Given the description of an element on the screen output the (x, y) to click on. 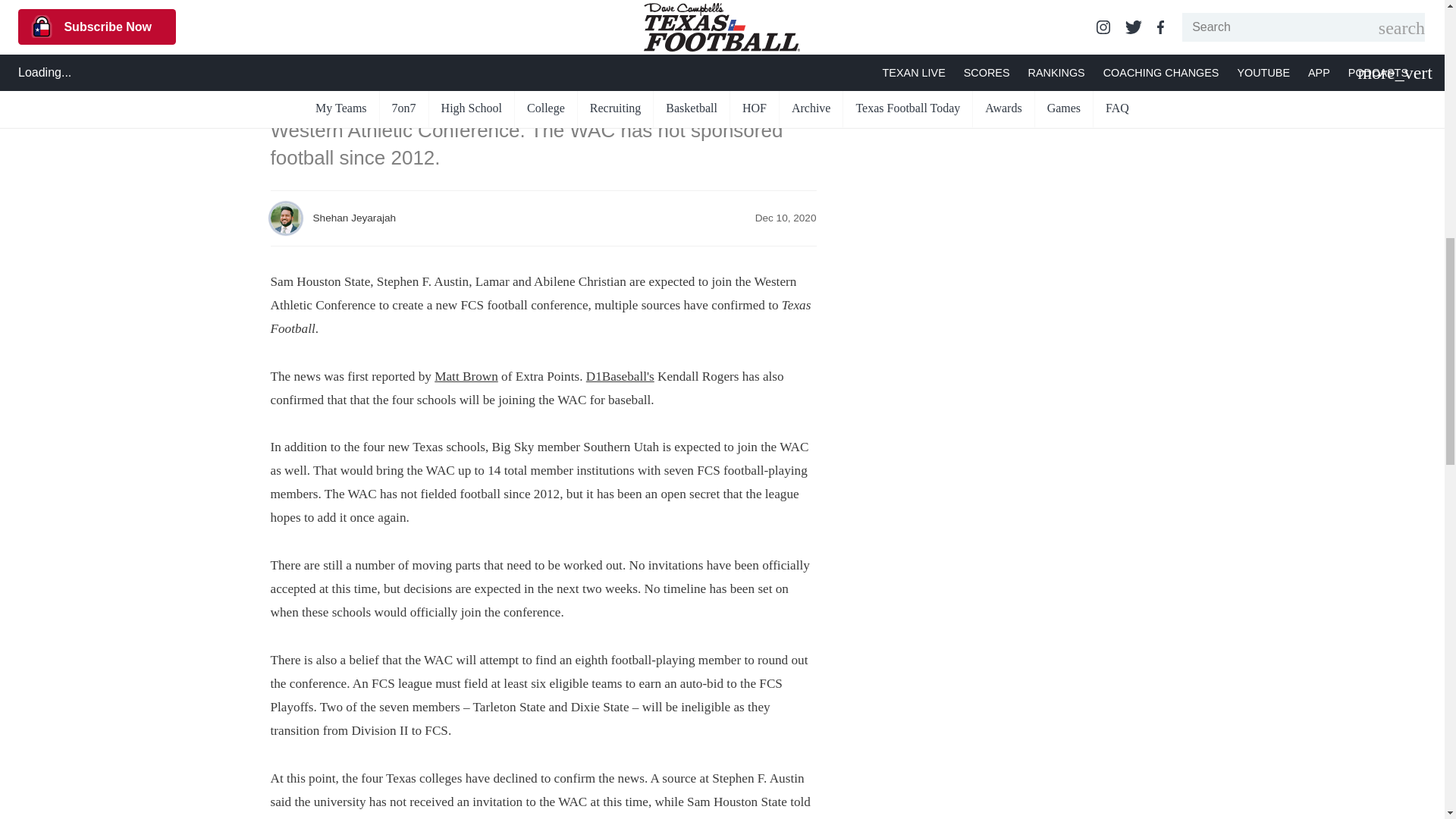
Save to Your Favorites (333, 31)
Share on Facebook (306, 31)
Share on Twitter (277, 31)
